Given the description of an element on the screen output the (x, y) to click on. 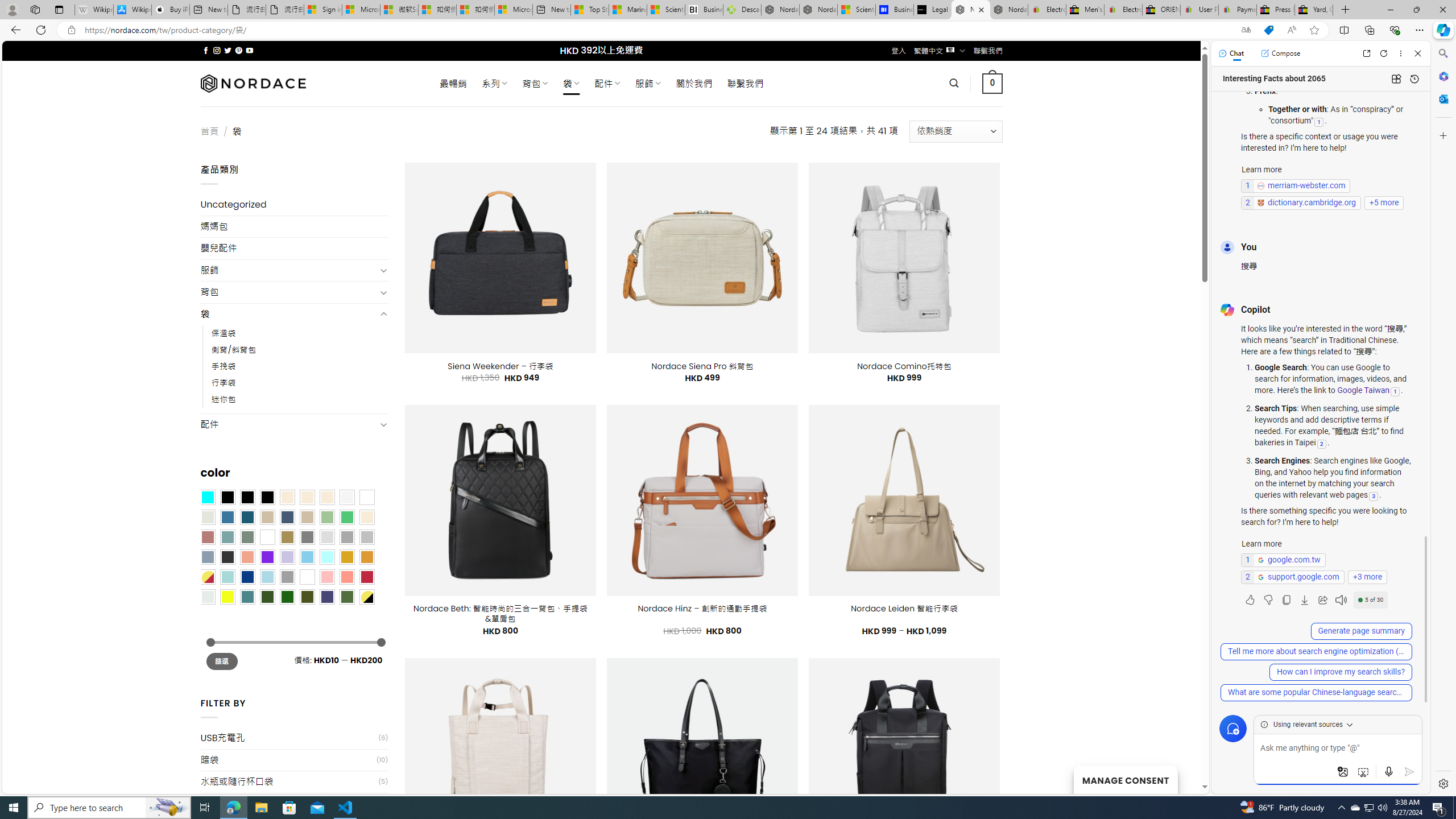
 0  (992, 83)
Microsoft account | Account Checkup (513, 9)
